Given the description of an element on the screen output the (x, y) to click on. 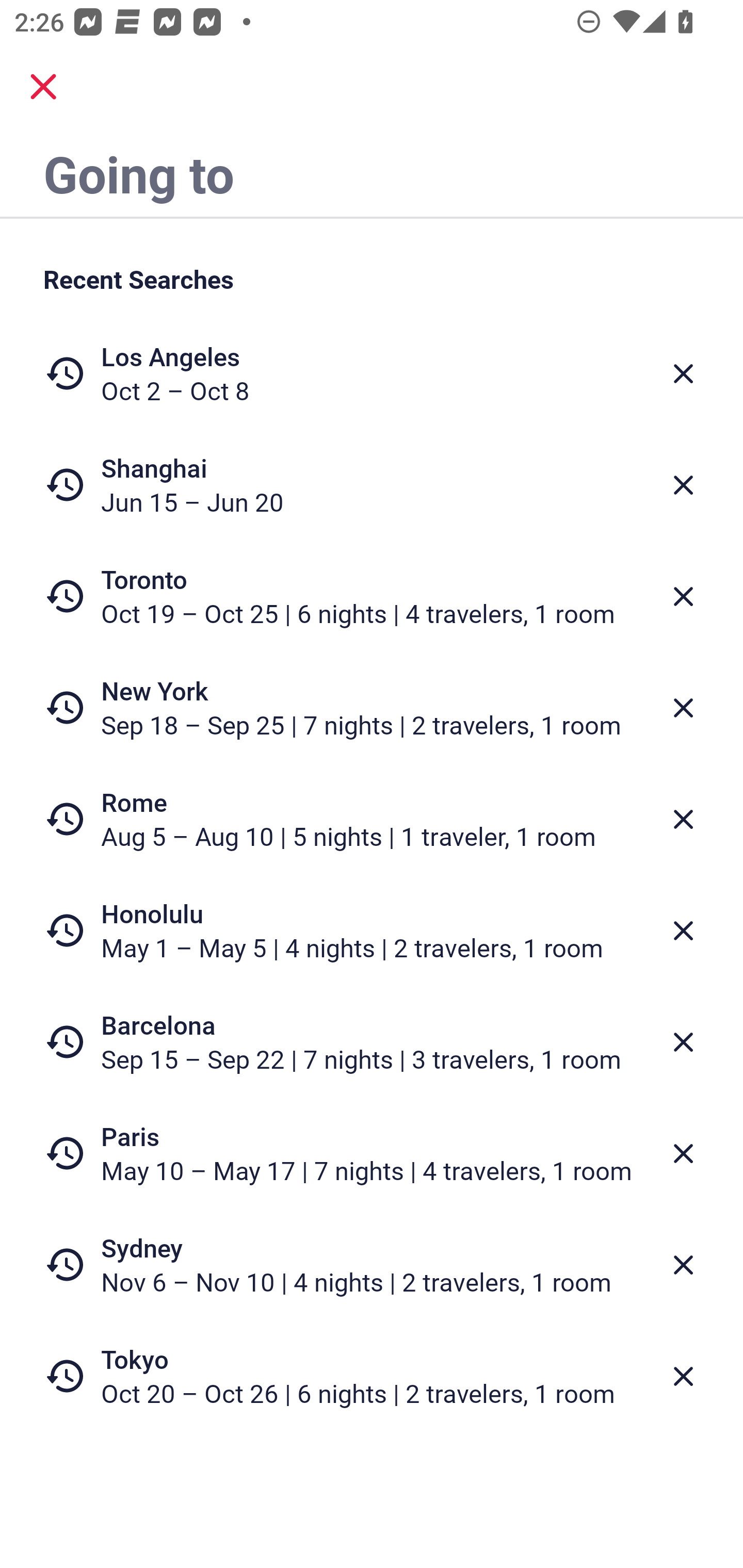
close. (43, 86)
Los Angeles Oct 2 – Oct 8 (371, 373)
Delete from recent searches (683, 373)
Shanghai Jun 15 – Jun 20 (371, 484)
Delete from recent searches (683, 485)
Delete from recent searches (683, 596)
Delete from recent searches (683, 707)
Delete from recent searches (683, 819)
Delete from recent searches (683, 930)
Delete from recent searches (683, 1041)
Delete from recent searches (683, 1153)
Delete from recent searches (683, 1265)
Delete from recent searches (683, 1376)
